Given the description of an element on the screen output the (x, y) to click on. 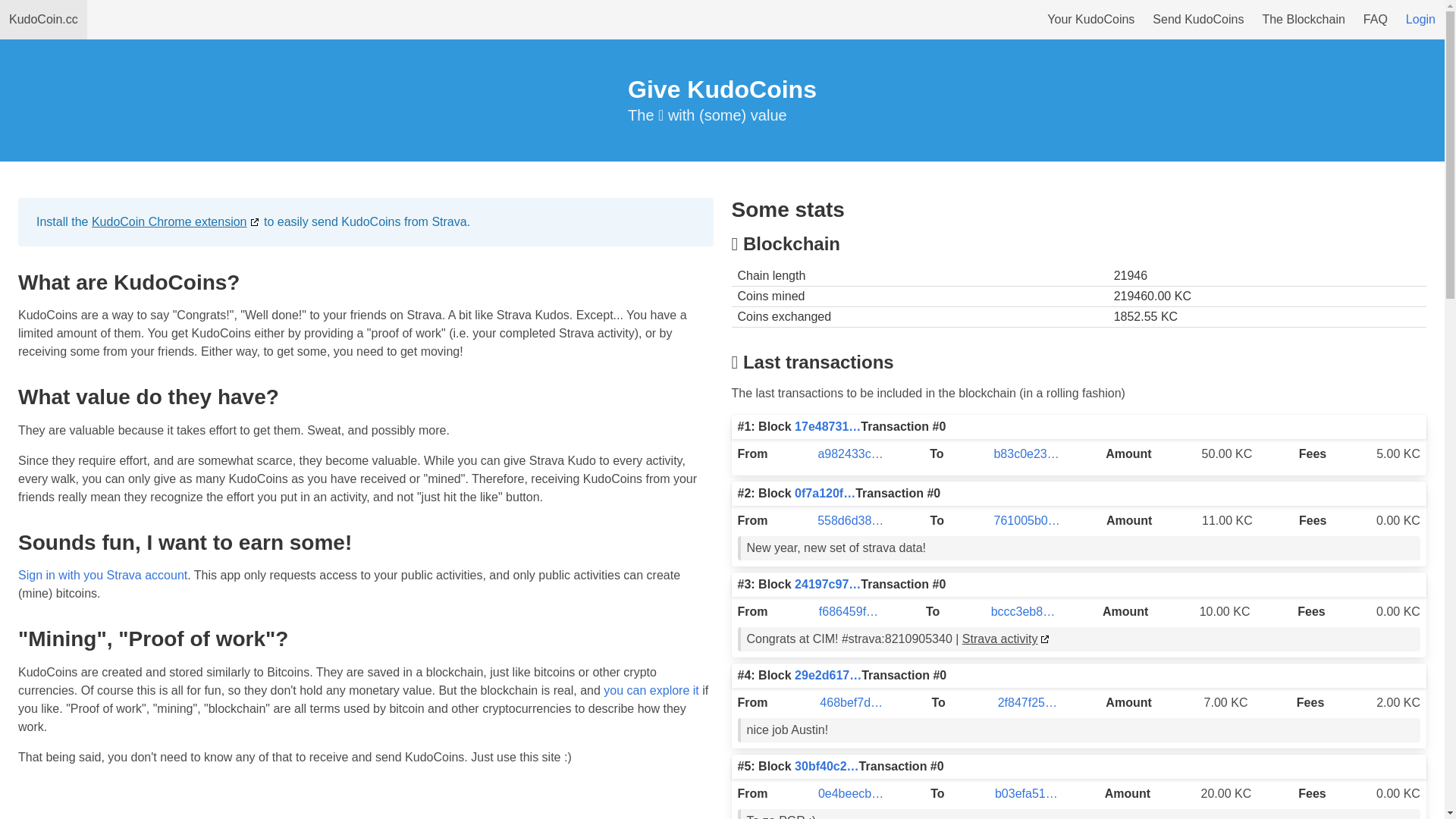
KudoCoin Chrome extension Element type: text (175, 221)
17e48731 Element type: text (821, 426)
29e2d617 Element type: text (821, 674)
Strava activity Element type: text (1006, 638)
b03efa51 Element type: text (1019, 793)
558d6d38 Element type: text (844, 520)
Your KudoCoins Element type: text (1090, 19)
0f7a120f Element type: text (818, 492)
Sign in with you Strava account Element type: text (102, 574)
a982433c Element type: text (843, 453)
you can explore it Element type: text (650, 690)
KudoCoin.cc Element type: text (43, 19)
b83c0e23 Element type: text (1019, 453)
24197c97 Element type: text (821, 583)
The Blockchain Element type: text (1302, 19)
468bef7d Element type: text (844, 702)
bccc3eb8 Element type: text (1017, 611)
761005b0 Element type: text (1021, 520)
Send KudoCoins Element type: text (1197, 19)
30bf40c2 Element type: text (820, 765)
FAQ Element type: text (1375, 19)
0e4beecb Element type: text (844, 793)
2f847f25 Element type: text (1020, 702)
f686459f Element type: text (842, 611)
Login Element type: text (1420, 18)
